Given the description of an element on the screen output the (x, y) to click on. 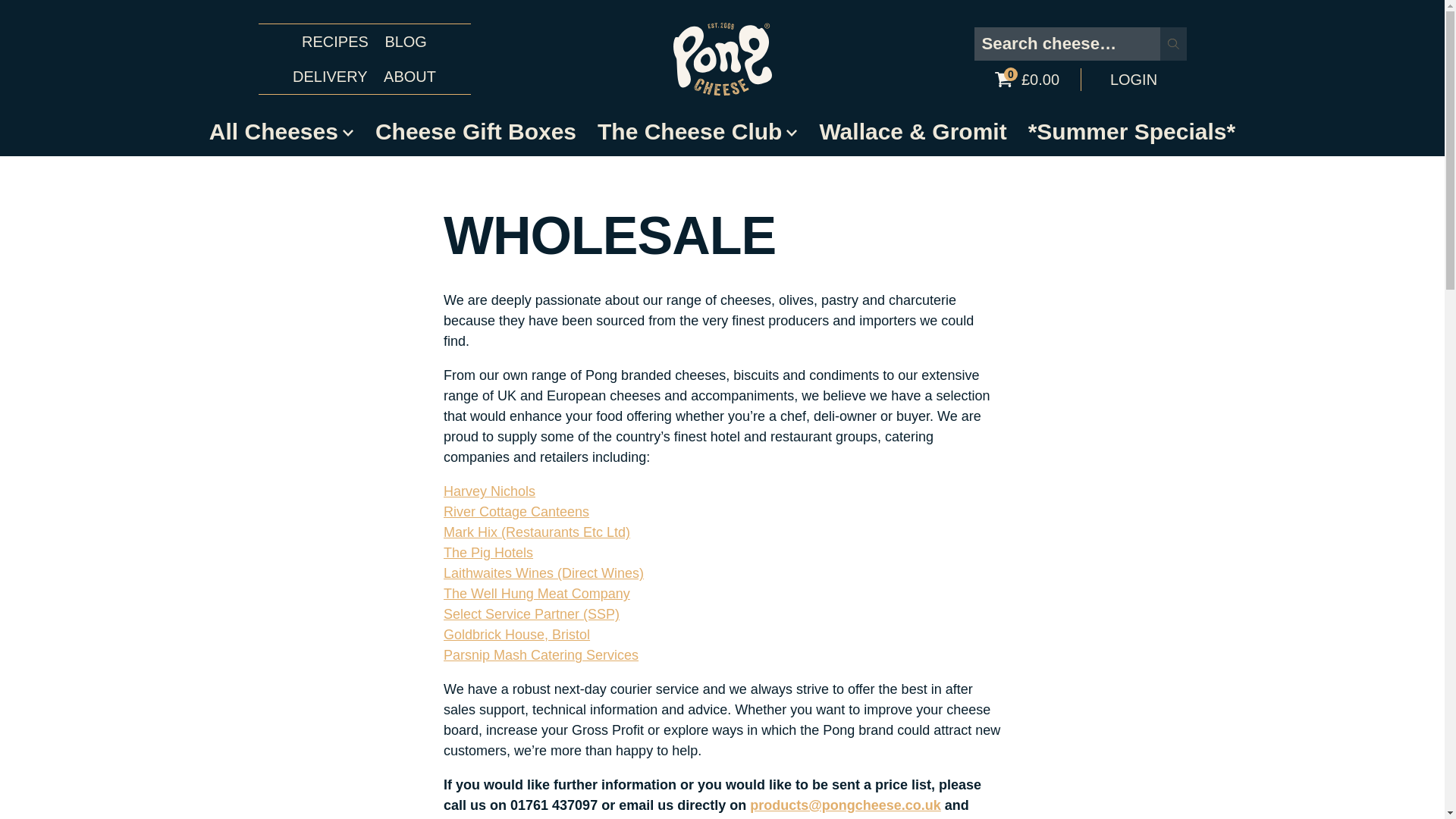
BLOG (405, 41)
ABOUT (409, 76)
View your shopping basket (1026, 79)
LOGIN (1133, 79)
Search for: (1067, 43)
RECIPES (334, 41)
All Cheeses (281, 133)
DELIVERY (330, 76)
Cheese Gift Boxes (475, 133)
Login (1133, 79)
